Given the description of an element on the screen output the (x, y) to click on. 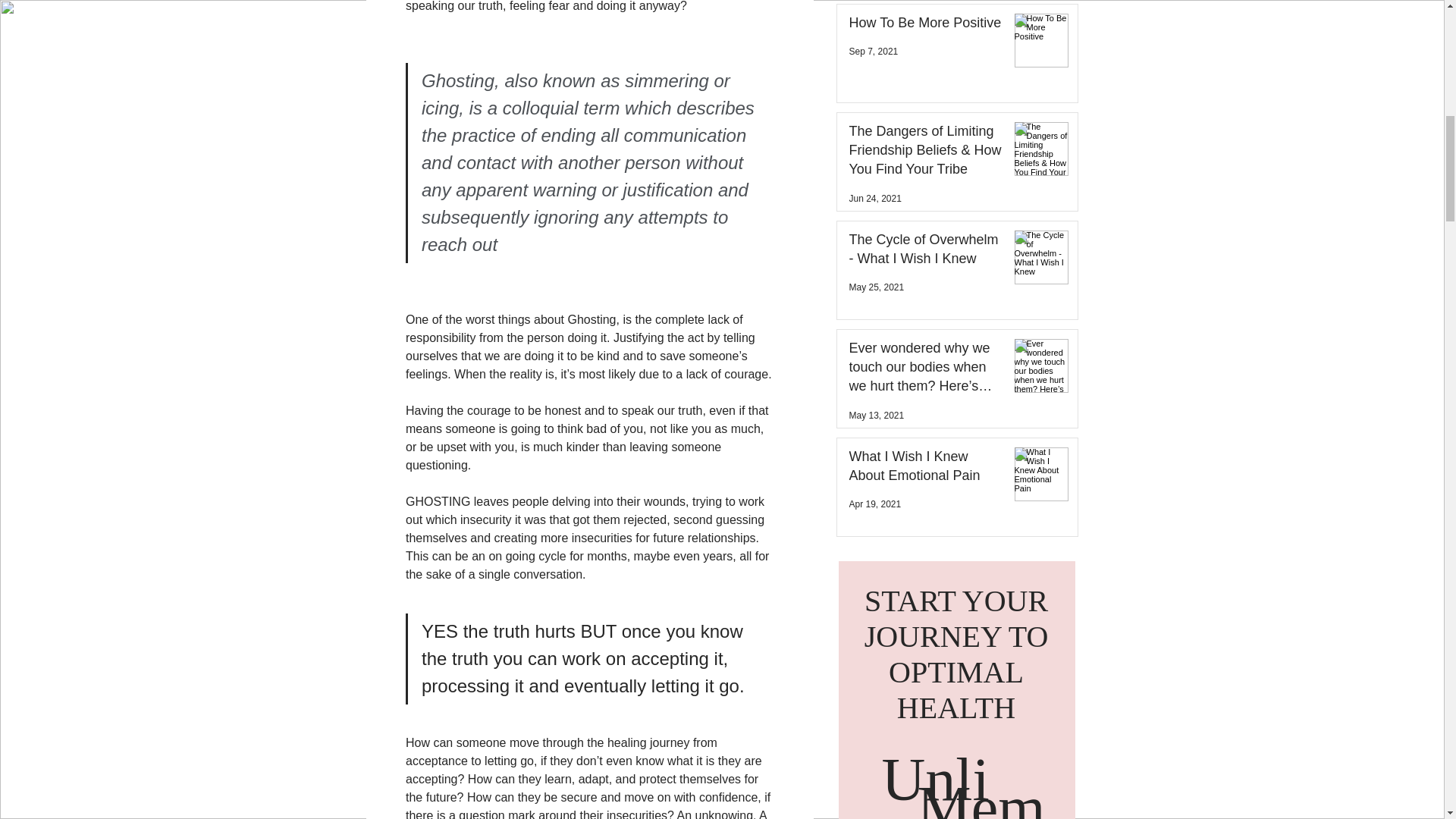
Apr 19, 2021 (874, 503)
Jun 24, 2021 (874, 198)
How To Be More Positive (925, 25)
The Cycle of Overwhelm - What I Wish I Knew (925, 252)
What I Wish I Knew About Emotional Pain (925, 469)
May 25, 2021 (876, 286)
May 13, 2021 (876, 415)
Sep 7, 2021 (873, 50)
